Given the description of an element on the screen output the (x, y) to click on. 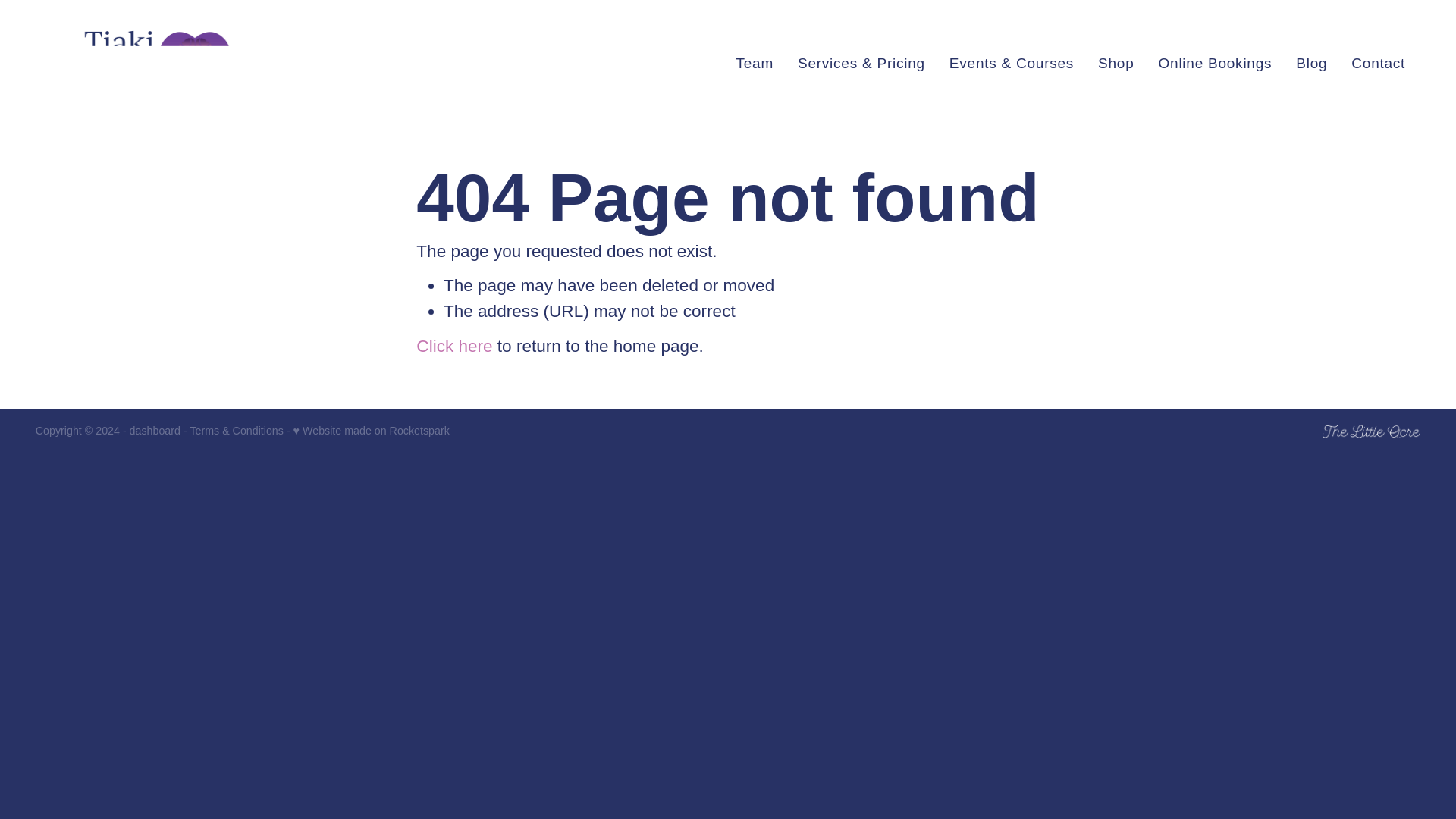
Online Bookings (1215, 63)
Blog (1310, 63)
Shop (1115, 63)
Team (754, 63)
Click here (454, 345)
Contact (1378, 63)
dashboard (154, 430)
